Given the description of an element on the screen output the (x, y) to click on. 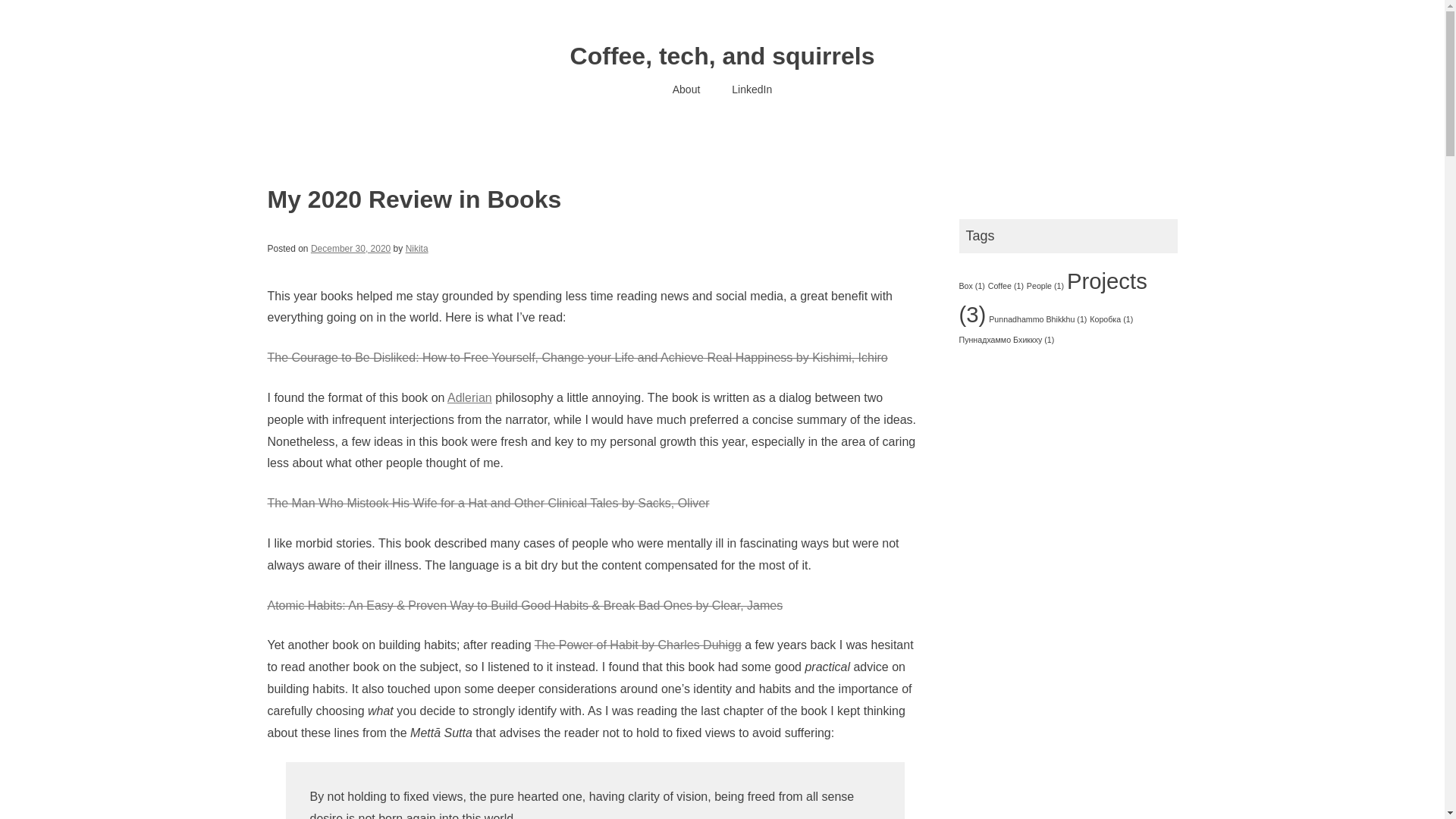
Adlerian (469, 397)
Coffee, tech, and squirrels (722, 55)
Nikita (417, 248)
The Power of Habit by Charles Duhigg (637, 644)
About (686, 89)
December 30, 2020 (350, 248)
LinkedIn (751, 89)
